Given the description of an element on the screen output the (x, y) to click on. 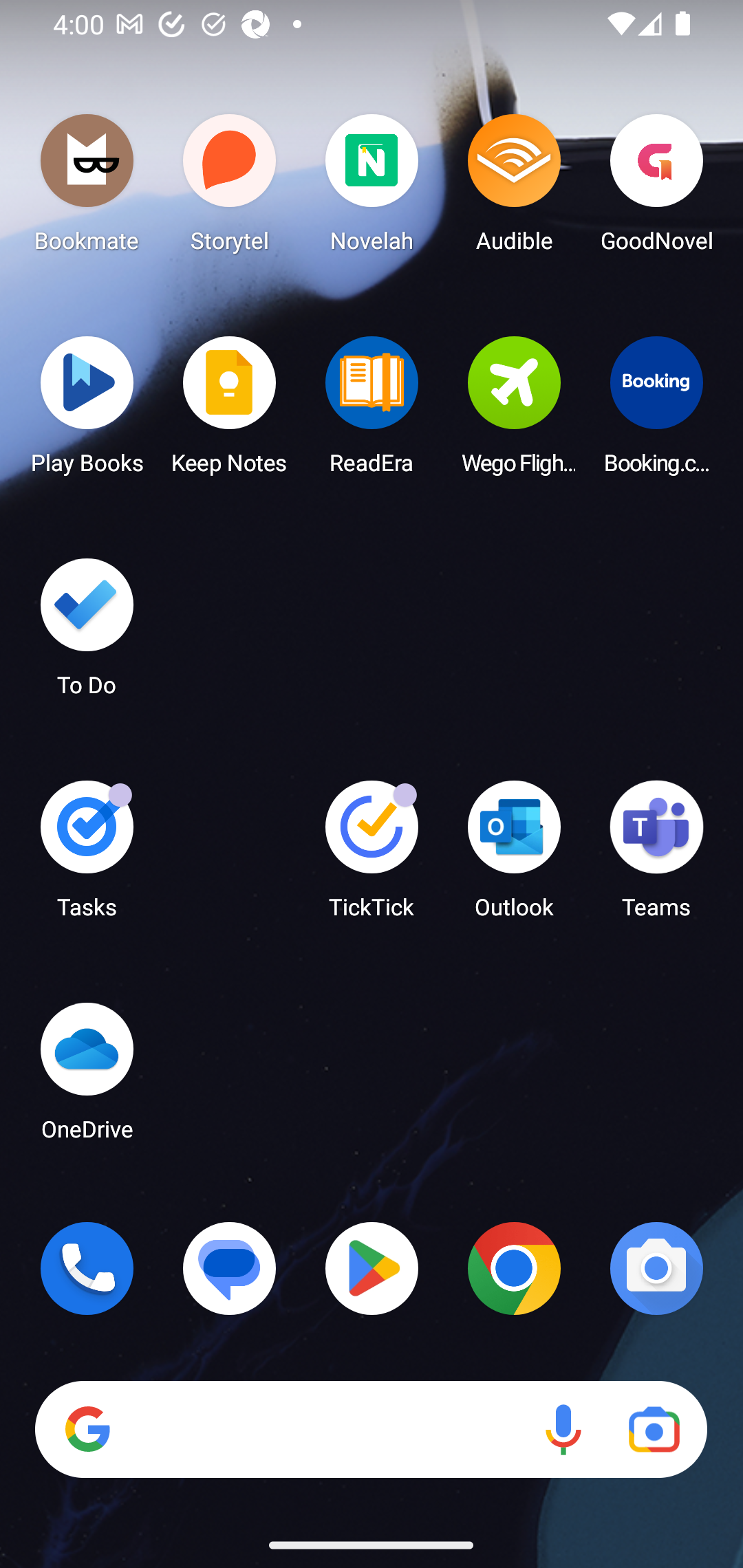
Bookmate (86, 188)
Storytel (229, 188)
Novelah (371, 188)
Audible (513, 188)
GoodNovel (656, 188)
Play Books (86, 410)
Keep Notes (229, 410)
ReadEra (371, 410)
Wego Flights & Hotels (513, 410)
Booking.com (656, 410)
To Do (86, 633)
Tasks Tasks has 1 notification (86, 854)
TickTick TickTick has 3 notifications (371, 854)
Outlook (513, 854)
Teams (656, 854)
OneDrive (86, 1076)
Phone (86, 1268)
Messages (229, 1268)
Play Store (371, 1268)
Chrome (513, 1268)
Camera (656, 1268)
Voice search (562, 1429)
Google Lens (653, 1429)
